Given the description of an element on the screen output the (x, y) to click on. 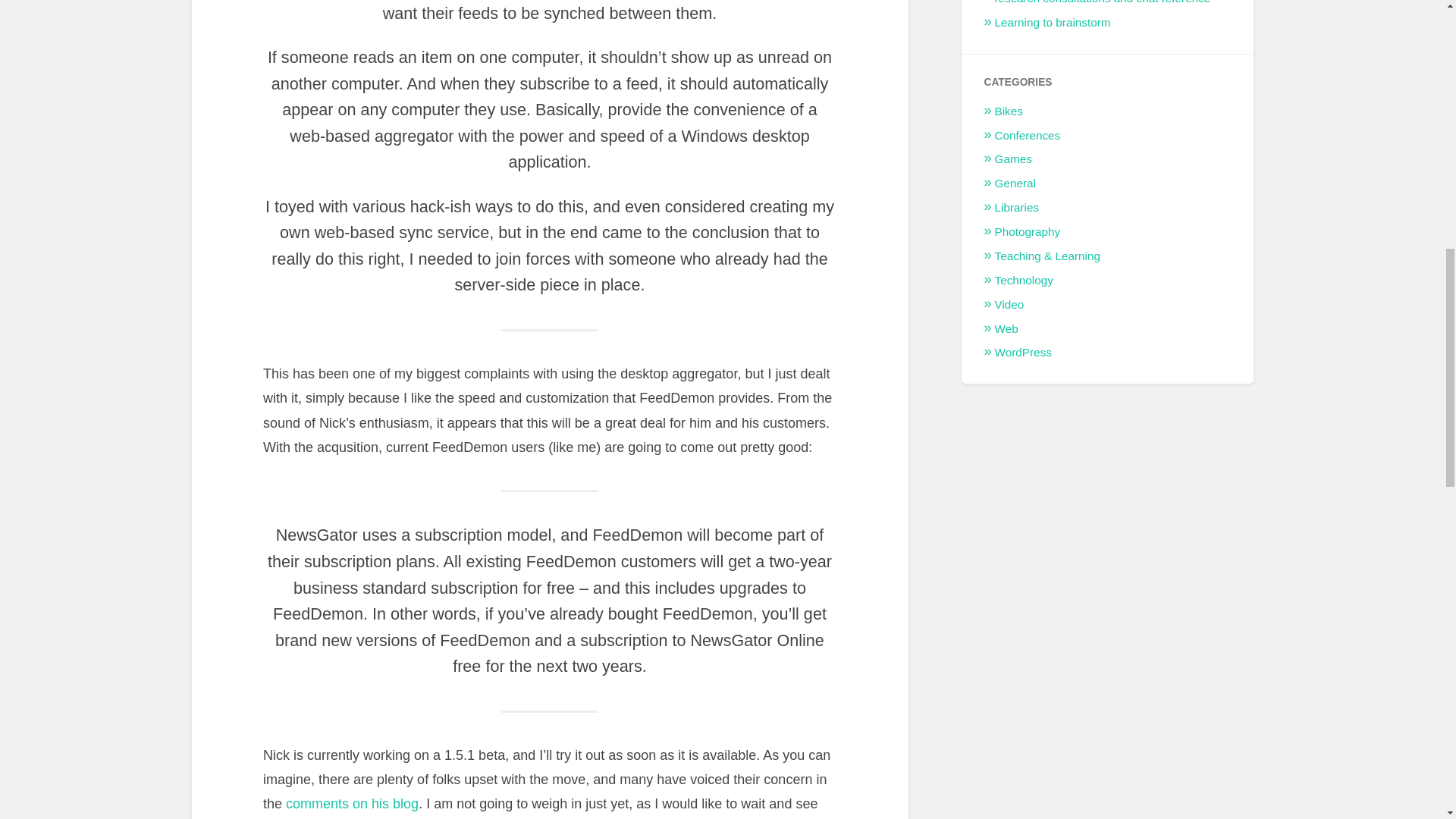
comments on his blog (352, 803)
Conferences (1027, 134)
Games (1013, 158)
General (1014, 182)
Technology (1023, 279)
Libraries (1016, 206)
Photography (1027, 231)
Bikes (1008, 110)
Learning to brainstorm (1052, 21)
